Given the description of an element on the screen output the (x, y) to click on. 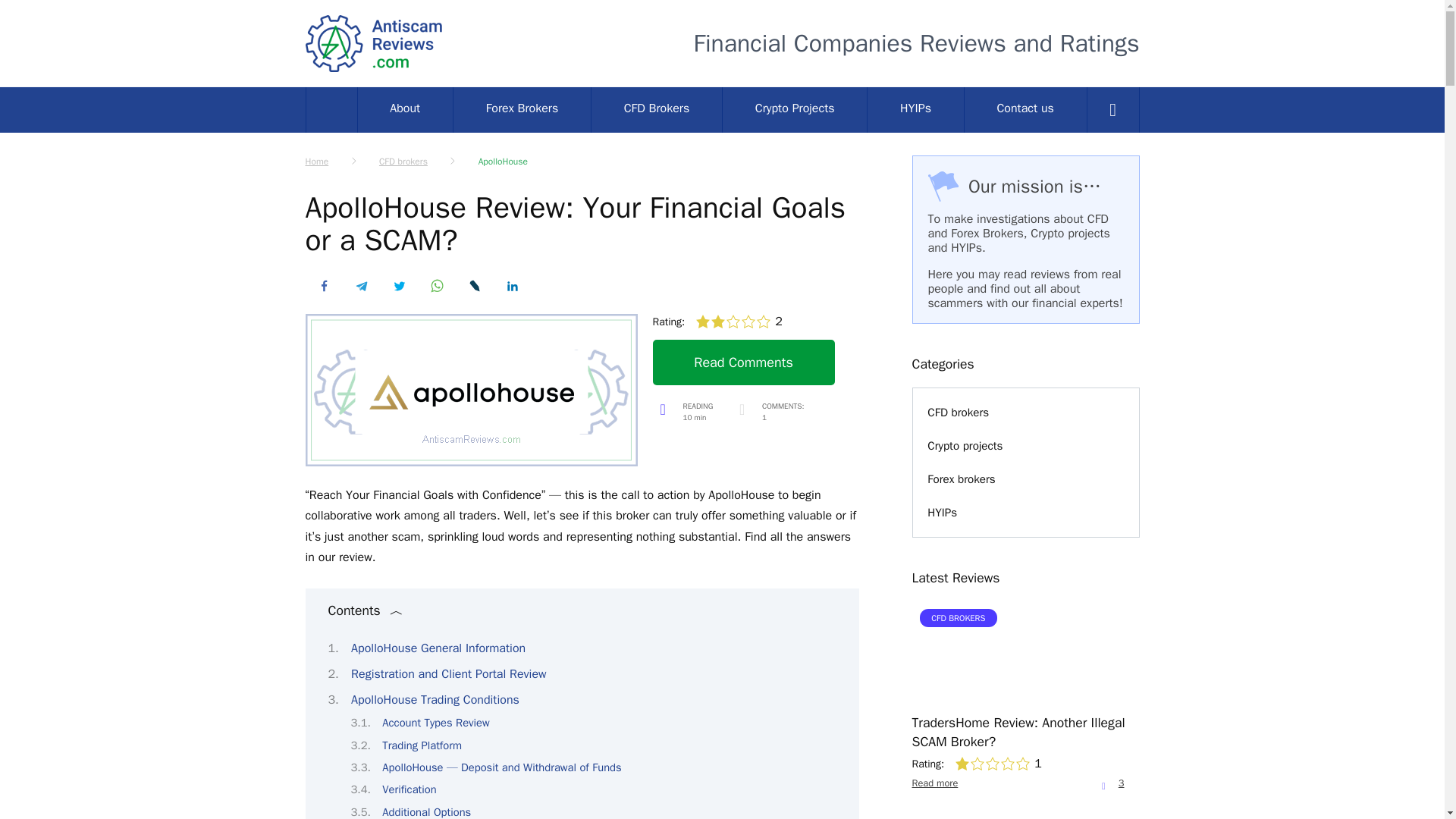
Forex Brokers (521, 109)
About (405, 109)
Verification (408, 789)
Crypto Projects (794, 109)
CFD brokers (403, 161)
Account Types Review (435, 722)
CFD Brokers (656, 109)
Home (316, 161)
HYIPs (914, 109)
